Given the description of an element on the screen output the (x, y) to click on. 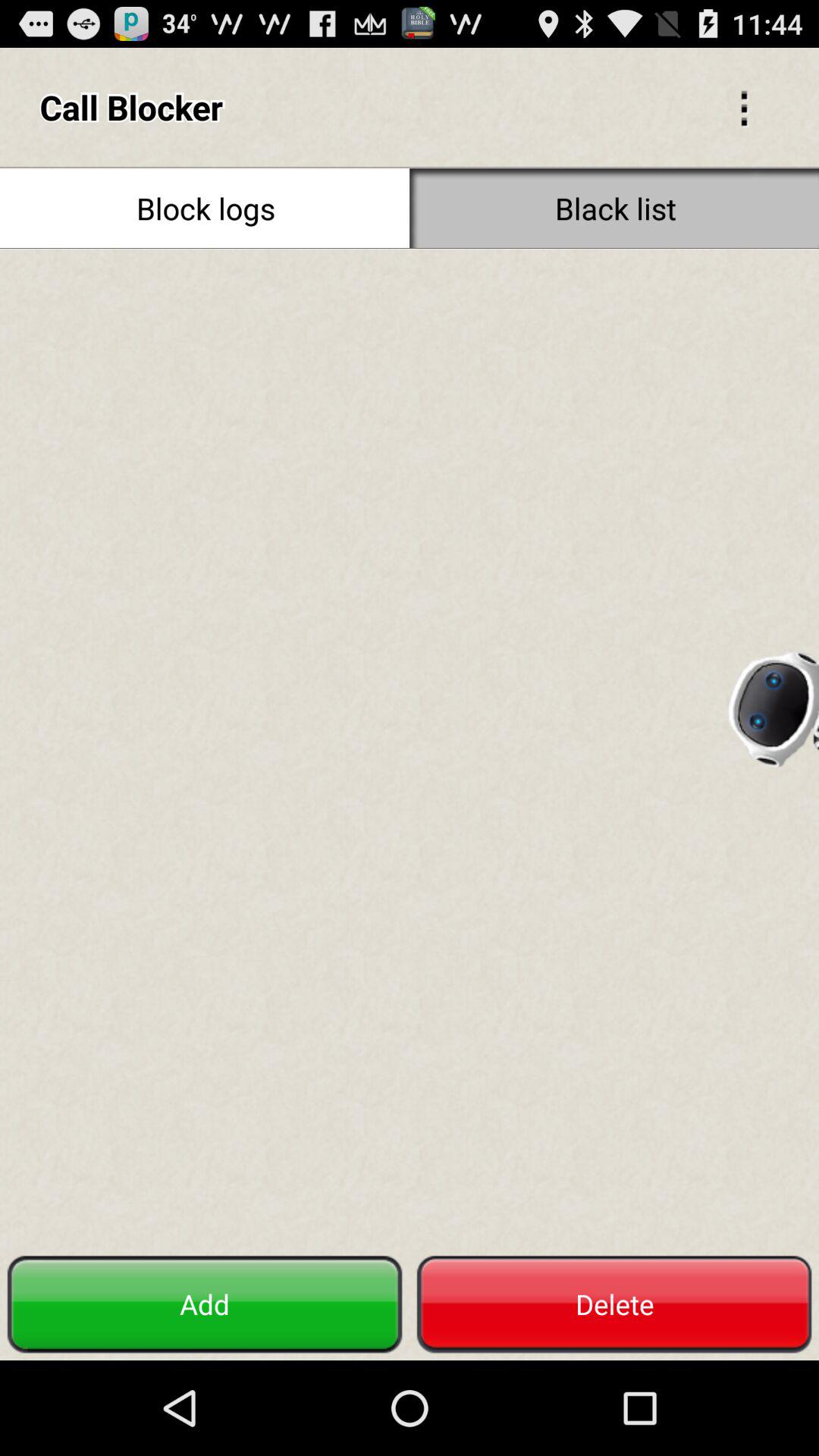
block call (409, 748)
